Given the description of an element on the screen output the (x, y) to click on. 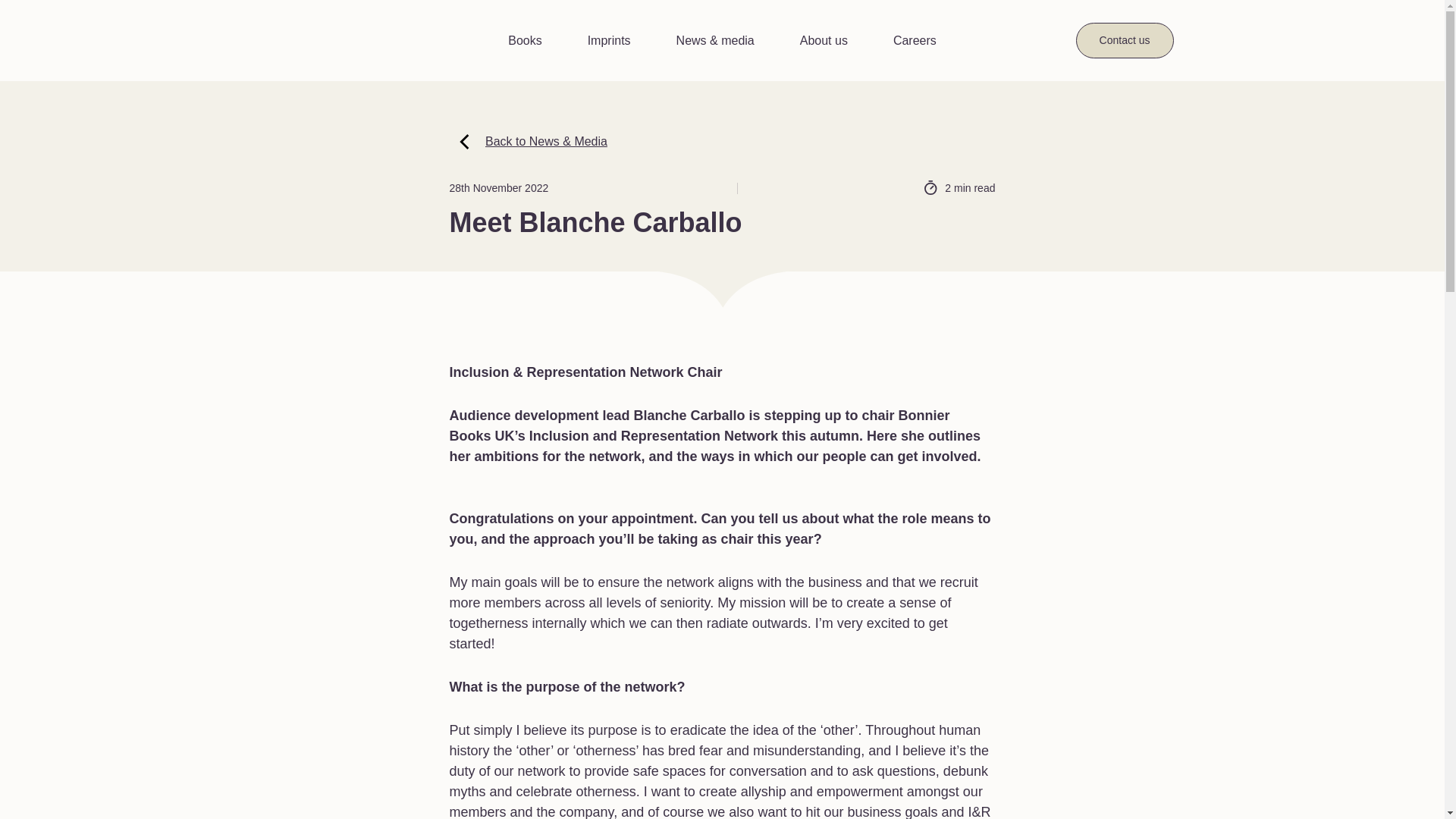
Books (524, 40)
Imprints (609, 40)
About us (823, 40)
Careers (914, 40)
Search (1075, 34)
Contact us (1124, 40)
